Given the description of an element on the screen output the (x, y) to click on. 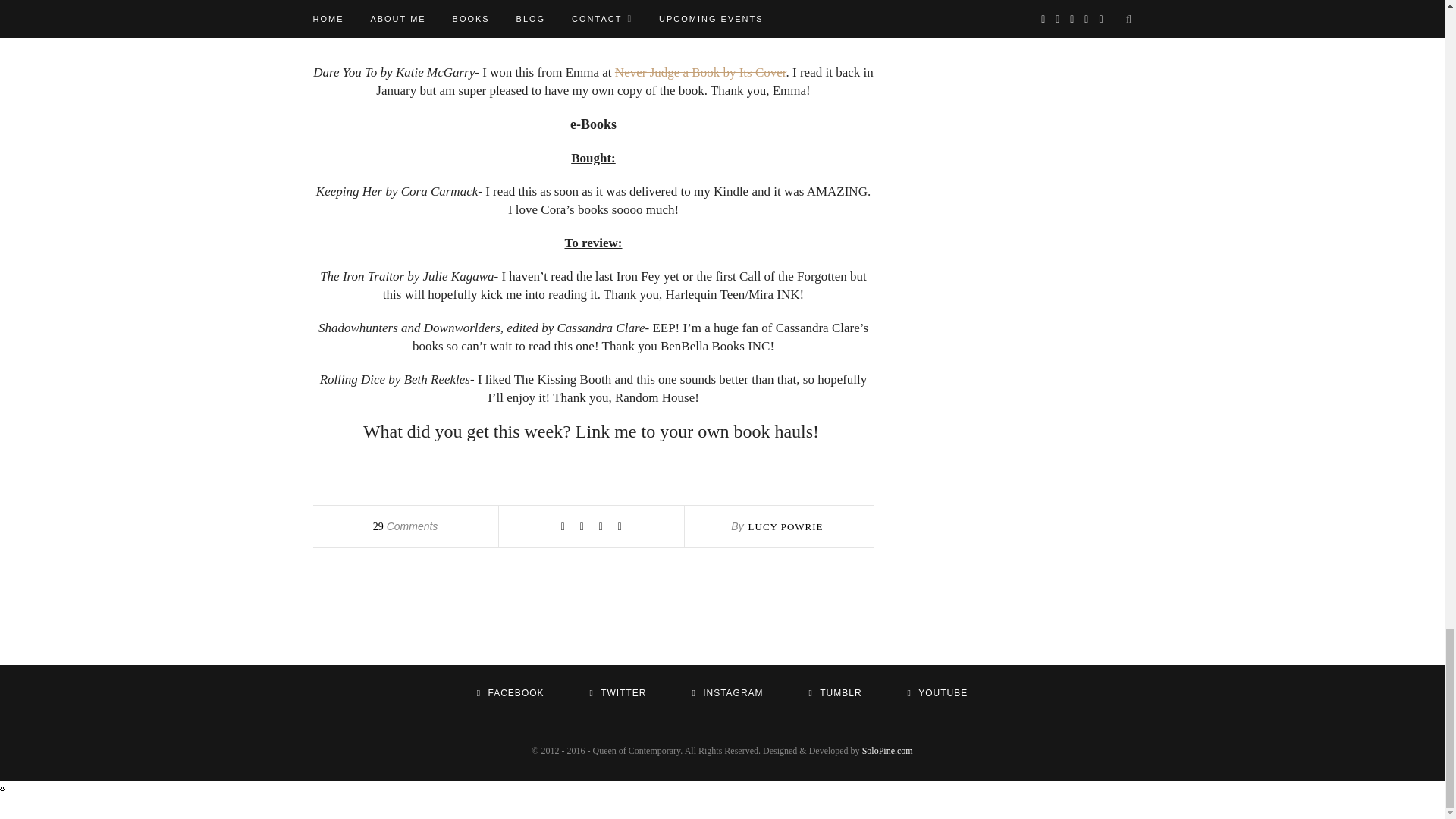
Posts by Lucy Powrie (786, 526)
Never Judge a Book by Its Cover (700, 72)
29 Comments (405, 526)
LUCY POWRIE (786, 526)
FACEBOOK (510, 692)
